Given the description of an element on the screen output the (x, y) to click on. 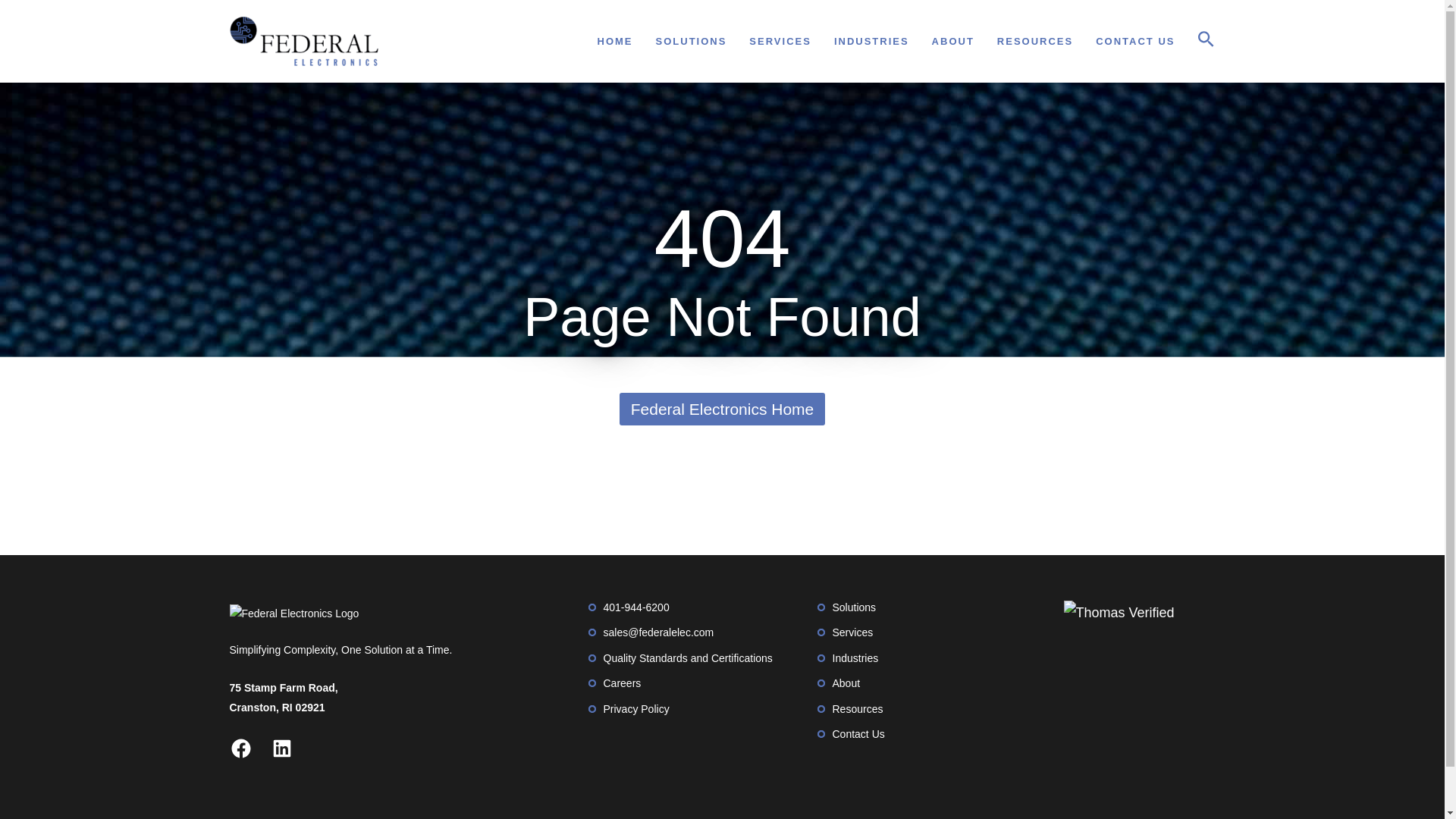
SOLUTIONS (691, 41)
INDUSTRIES (871, 41)
SERVICES (779, 41)
RESOURCES (1035, 41)
CONTACT US (1135, 41)
